Given the description of an element on the screen output the (x, y) to click on. 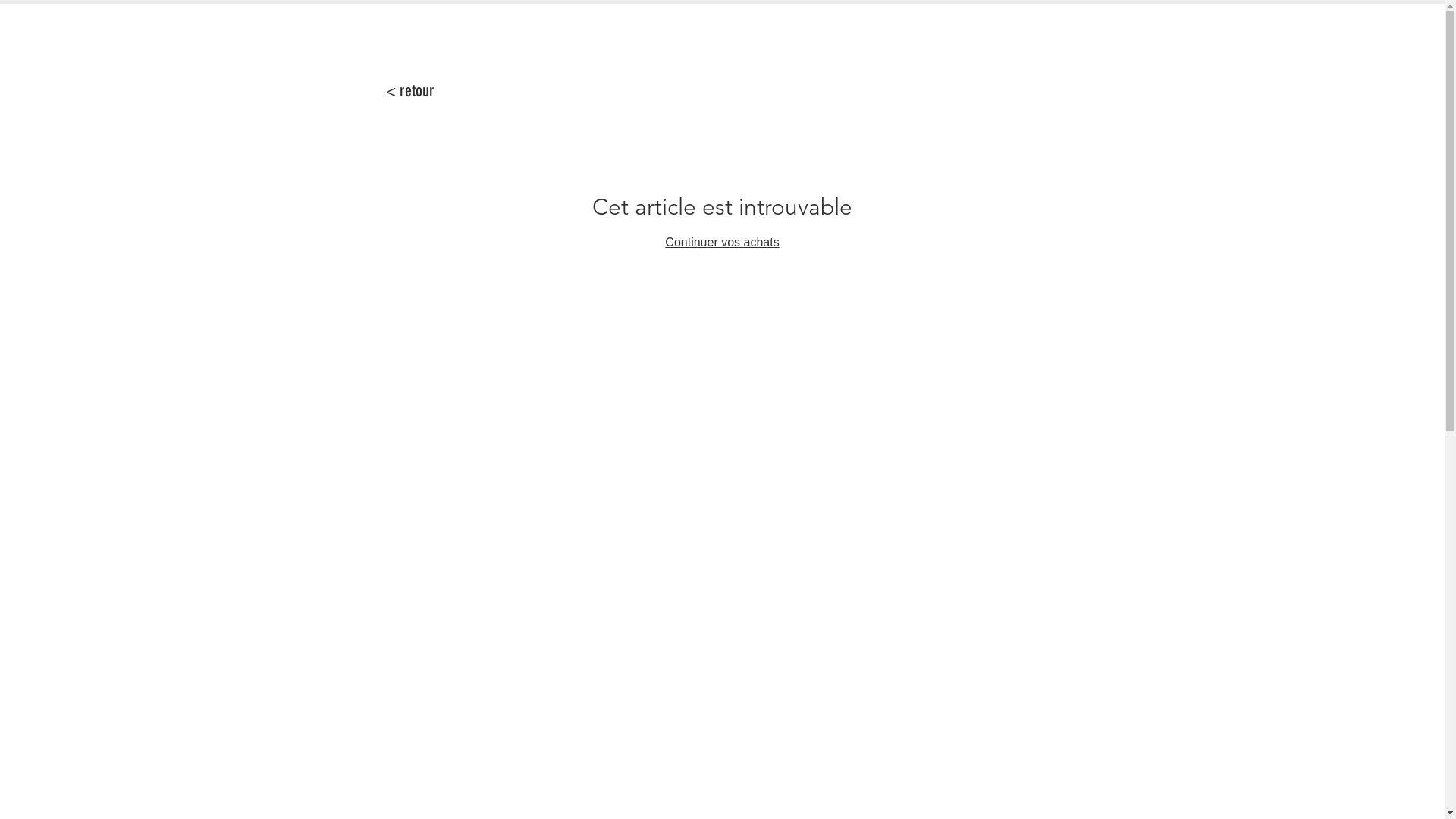
Accueil Element type: text (403, 94)
< retour Element type: text (410, 90)
Continuer vos achats Element type: text (721, 241)
